Given the description of an element on the screen output the (x, y) to click on. 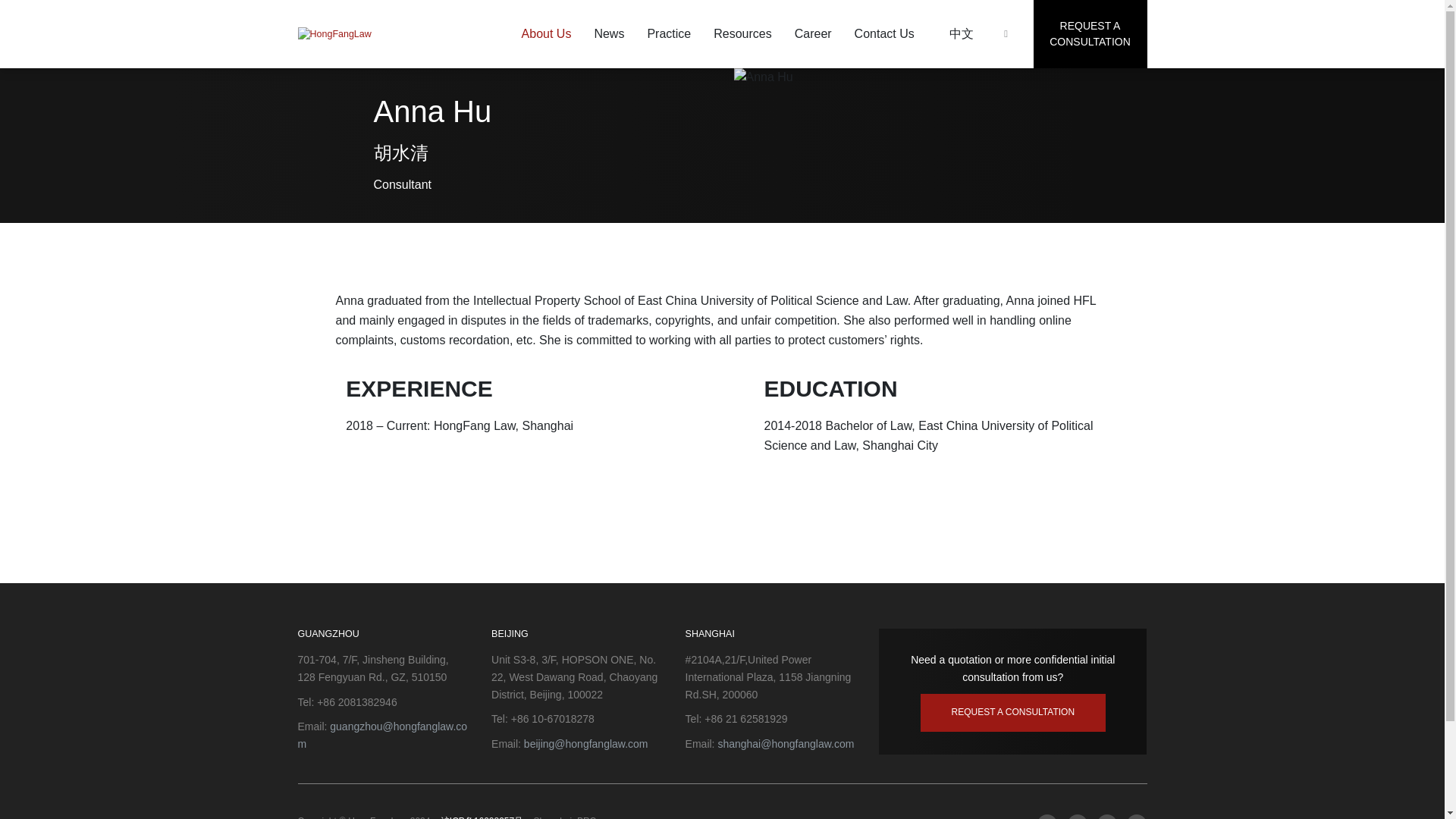
About Us (546, 33)
News (608, 33)
News (608, 33)
About Us (546, 33)
HongFangLaw (334, 34)
Resources (742, 33)
Career (812, 33)
Contact Us (884, 33)
REQUEST A CONSULTATION (1089, 33)
Practice (668, 33)
